Given the description of an element on the screen output the (x, y) to click on. 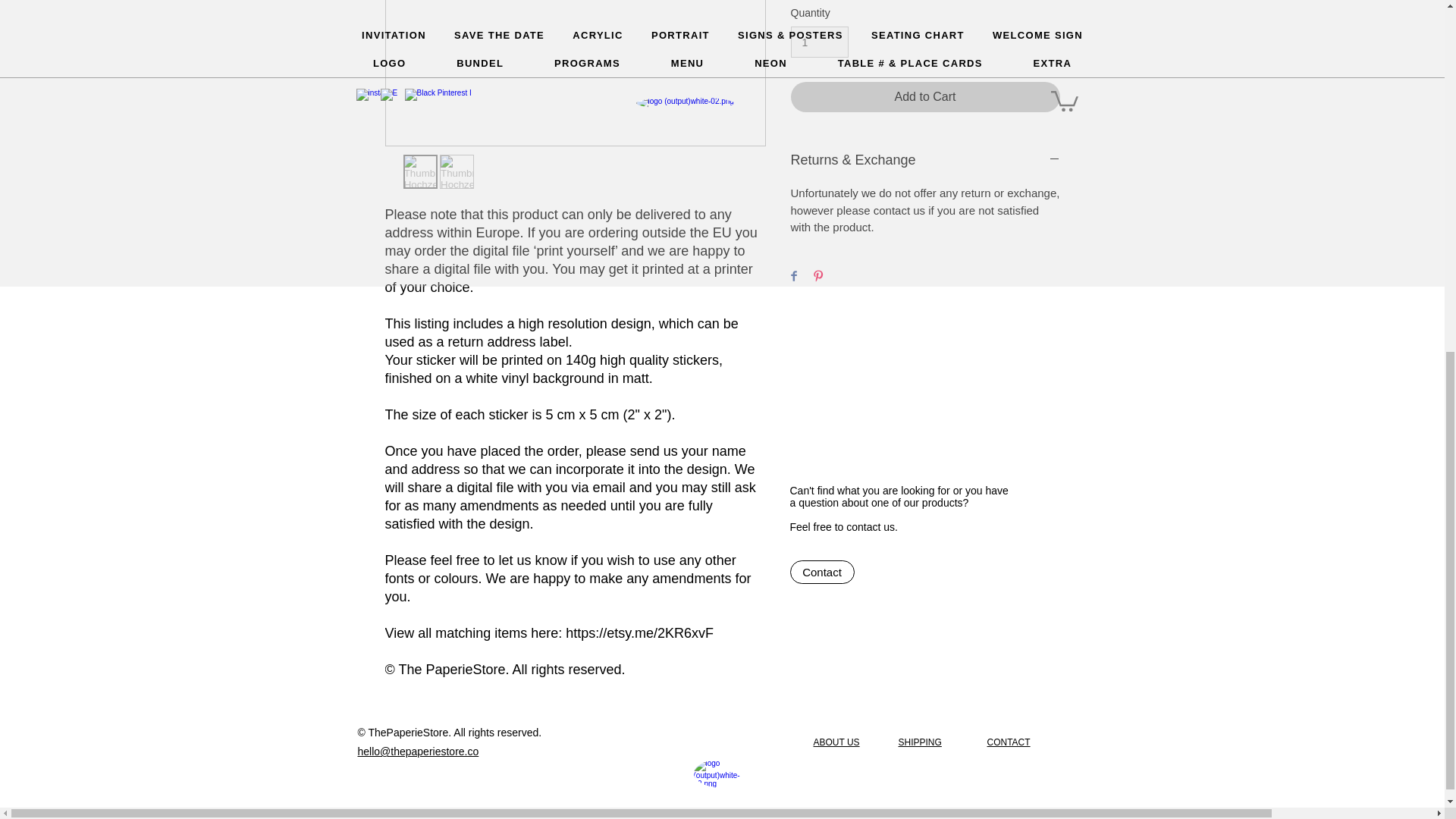
ABOUT US (835, 742)
CONTACT (1008, 742)
SHIPPING (919, 742)
Add to Cart (924, 96)
1 (818, 41)
Contact (822, 571)
